Given the description of an element on the screen output the (x, y) to click on. 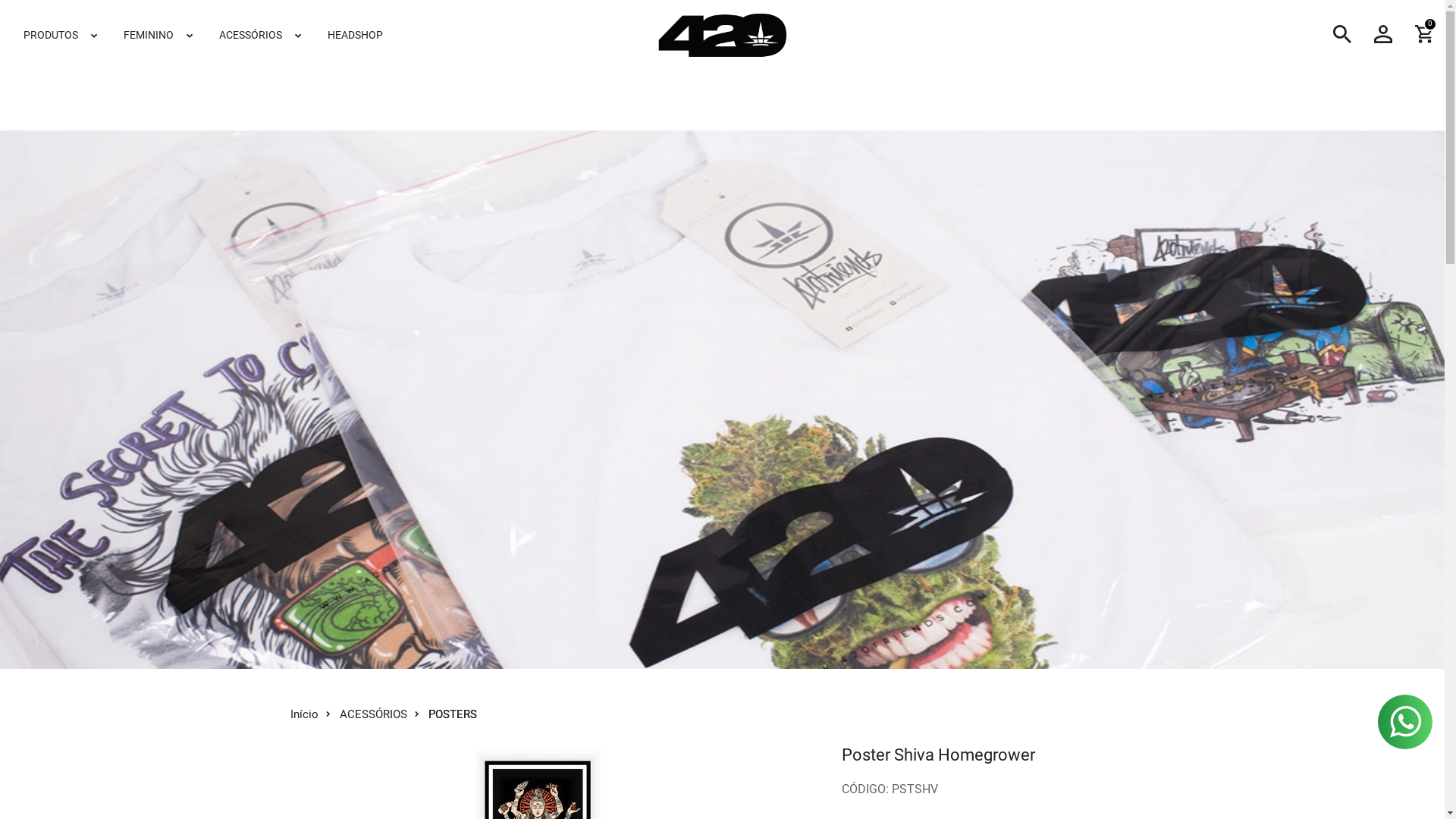
POSTERS Element type: text (451, 714)
PRODUTOS Element type: text (61, 35)
FEMININO Element type: text (158, 35)
HEADSHOP Element type: text (354, 35)
420 Friends  Element type: hover (722, 34)
